Given the description of an element on the screen output the (x, y) to click on. 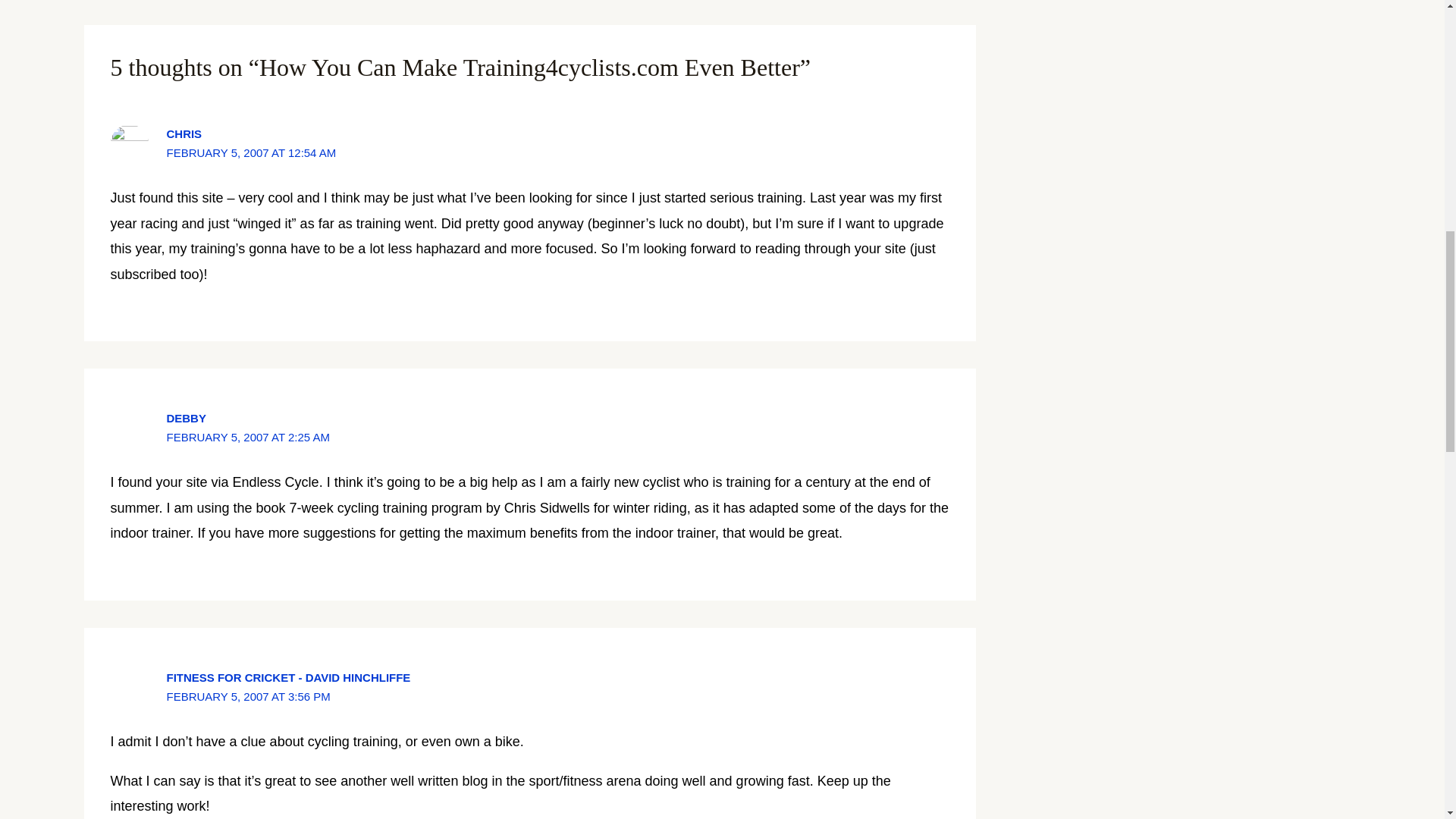
FEBRUARY 5, 2007 AT 12:54 AM (250, 152)
FEBRUARY 5, 2007 AT 3:56 PM (247, 696)
FEBRUARY 5, 2007 AT 2:25 AM (247, 436)
